Given the description of an element on the screen output the (x, y) to click on. 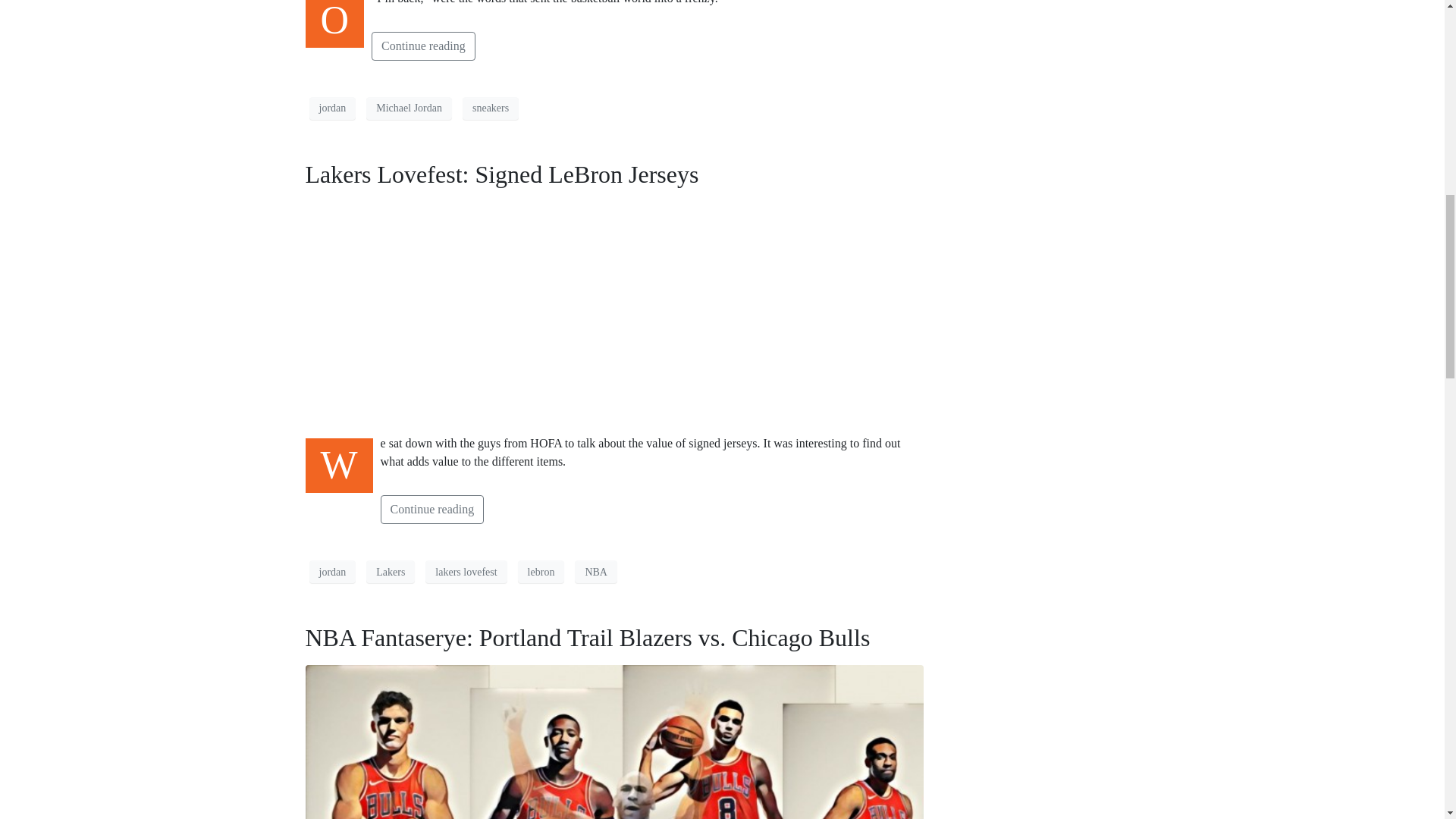
Lakers Lovefest: Signed LeBron Jerseys (501, 174)
NBA Fantaserye: Portland Trail Blazers vs. Chicago Bulls (586, 637)
jordan (332, 108)
Continue reading (423, 45)
